Given the description of an element on the screen output the (x, y) to click on. 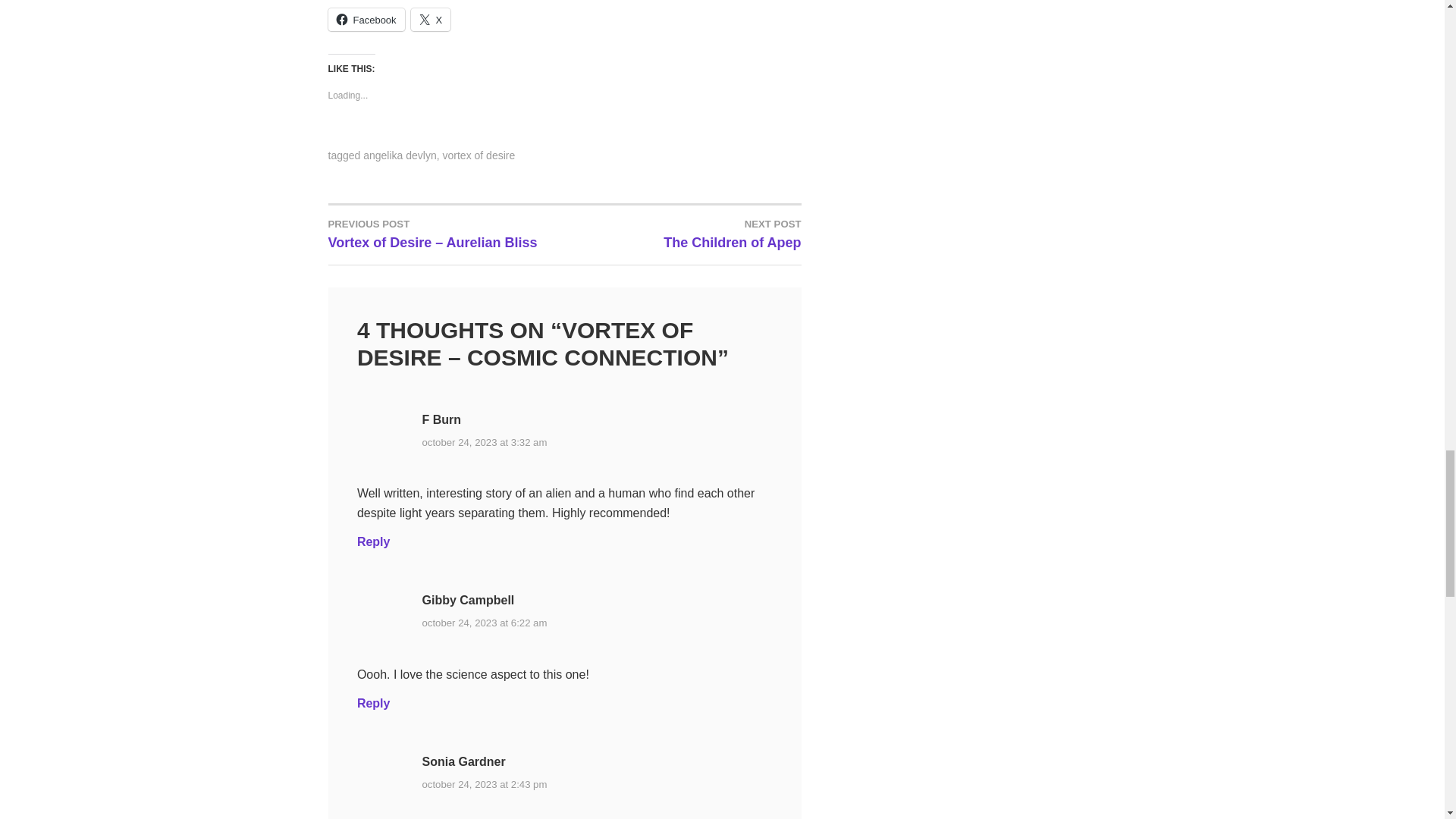
Click to share on Facebook (365, 19)
X (430, 19)
Facebook (365, 19)
Click to share on X (430, 19)
